Given the description of an element on the screen output the (x, y) to click on. 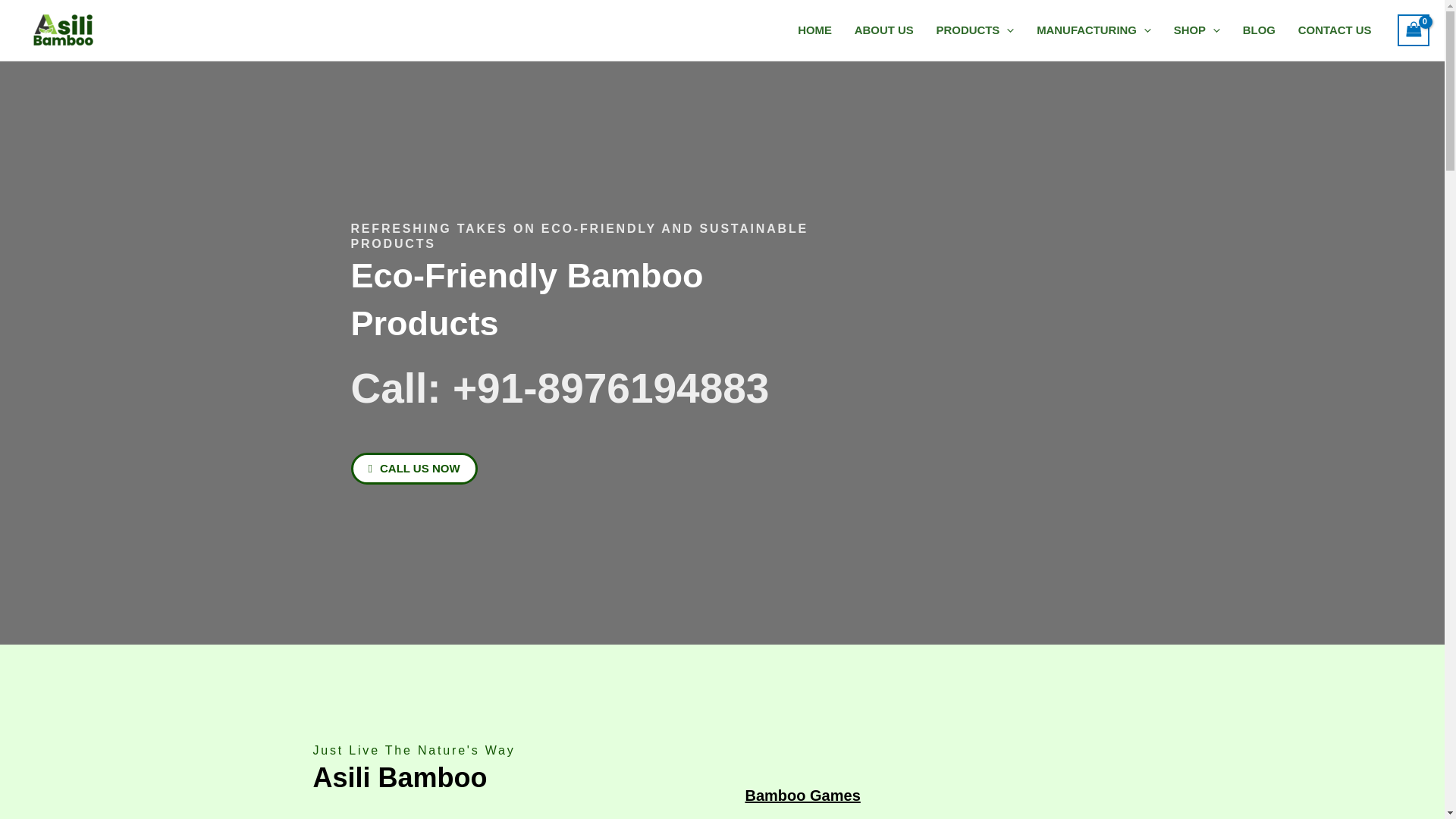
PRODUCTS (975, 30)
BLOG (1259, 30)
CONTACT US (1335, 30)
HOME (814, 30)
SHOP (1196, 30)
ABOUT US (883, 30)
MANUFACTURING (1093, 30)
